Given the description of an element on the screen output the (x, y) to click on. 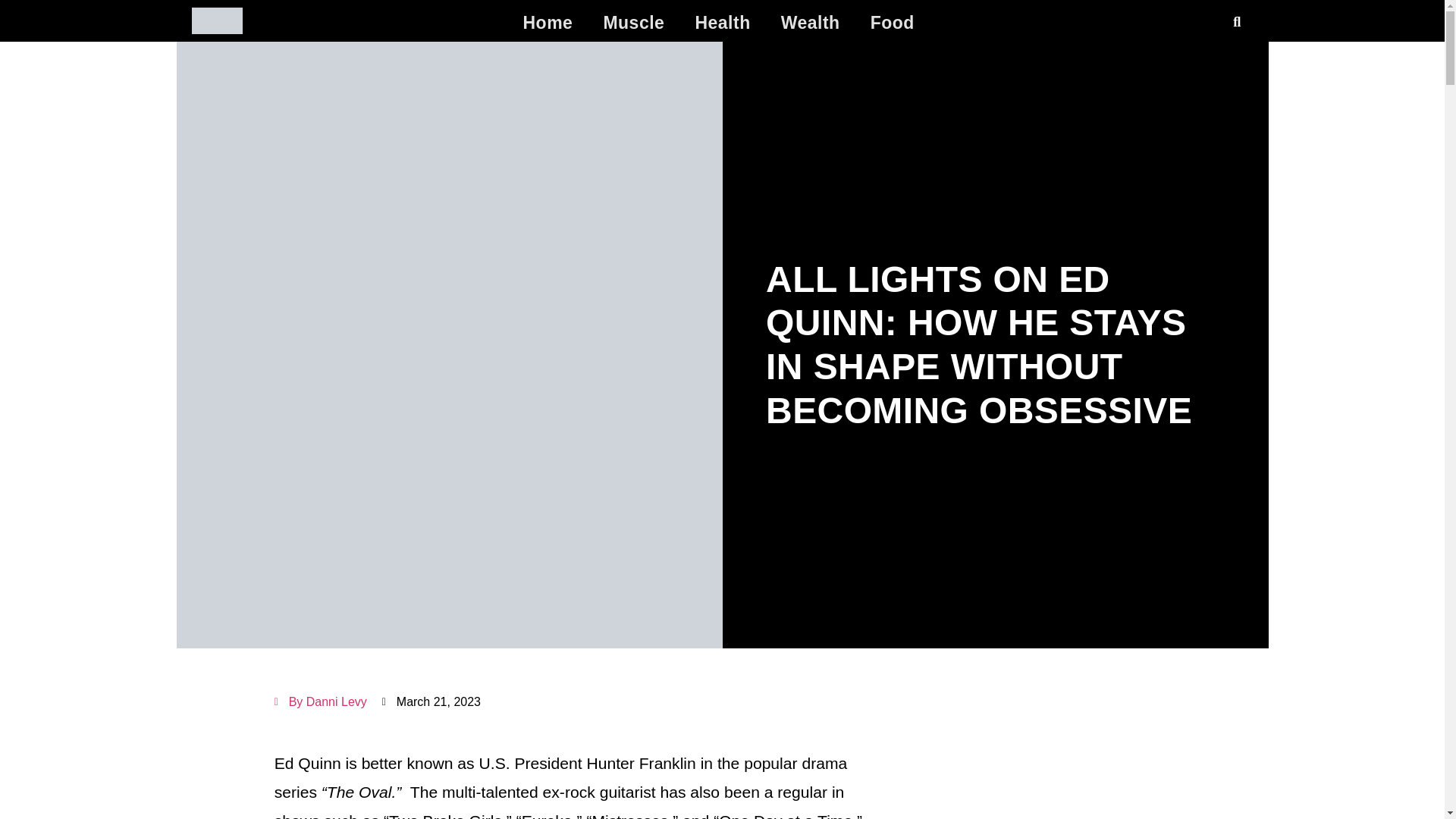
Muscle (633, 21)
Home (548, 21)
Health (722, 21)
Wealth (810, 21)
Food (893, 21)
